Given the description of an element on the screen output the (x, y) to click on. 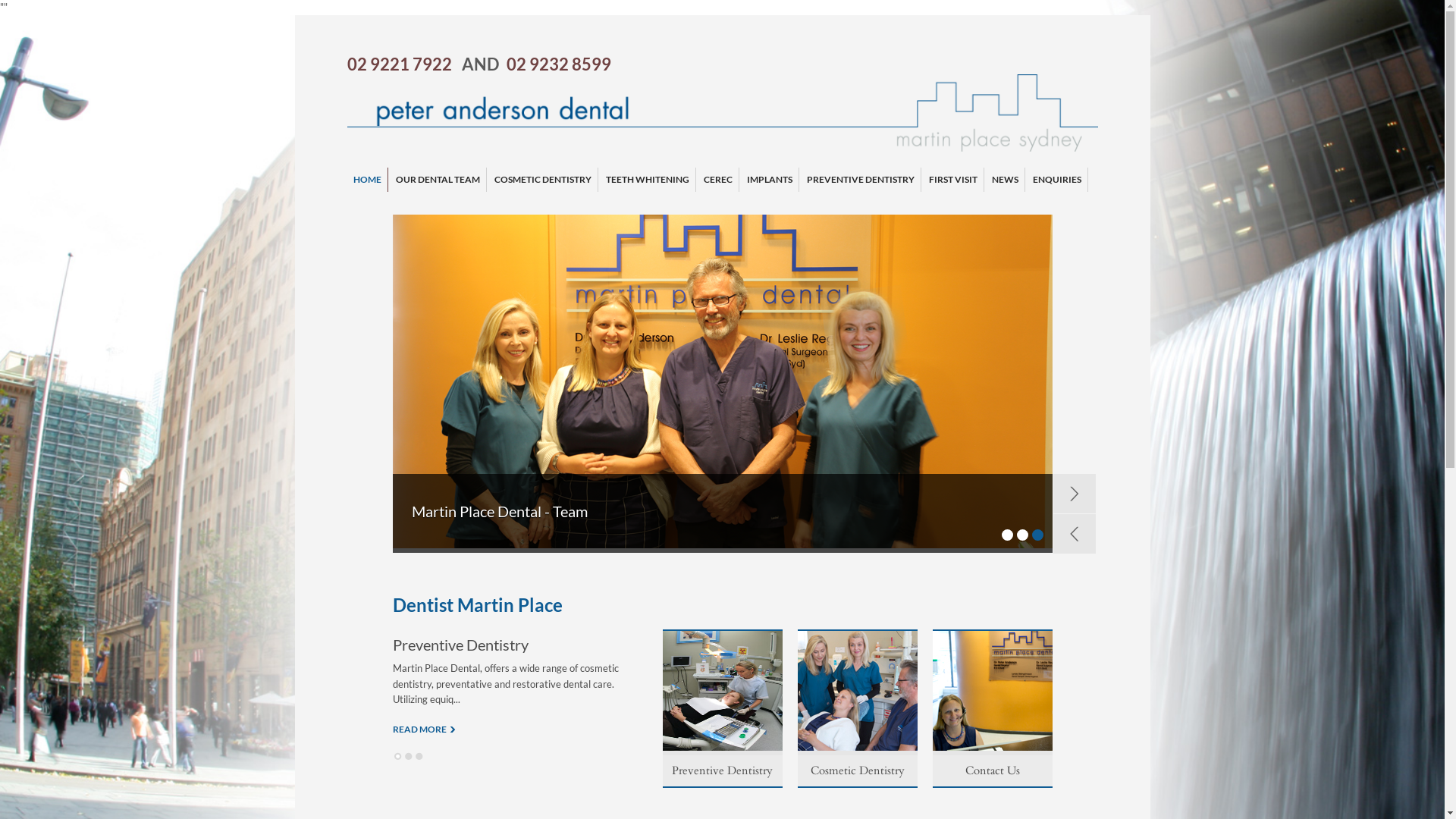
HOME Element type: text (367, 179)
PREVENTIVE DENTISTRY Element type: text (860, 179)
02 9232 8599 Element type: text (558, 63)
2 Element type: text (1021, 534)
Prev Element type: text (1073, 533)
NEWS Element type: text (1004, 179)
3 Element type: text (1036, 534)
OUR DENTAL TEAM Element type: text (437, 179)
02 9221 7922 Element type: text (399, 63)
IMPLANTS Element type: text (768, 179)
FIRST VISIT Element type: text (952, 179)
CEREC Element type: text (717, 179)
1 Element type: text (397, 755)
2 Element type: text (408, 755)
COSMETIC DENTISTRY Element type: text (542, 179)
1 Element type: text (1006, 534)
ENQUIRIES Element type: text (1056, 179)
Next Element type: text (1073, 493)
TEETH WHITENING Element type: text (646, 179)
3 Element type: text (419, 755)
Sydney Dentist Element type: hover (722, 147)
